Given the description of an element on the screen output the (x, y) to click on. 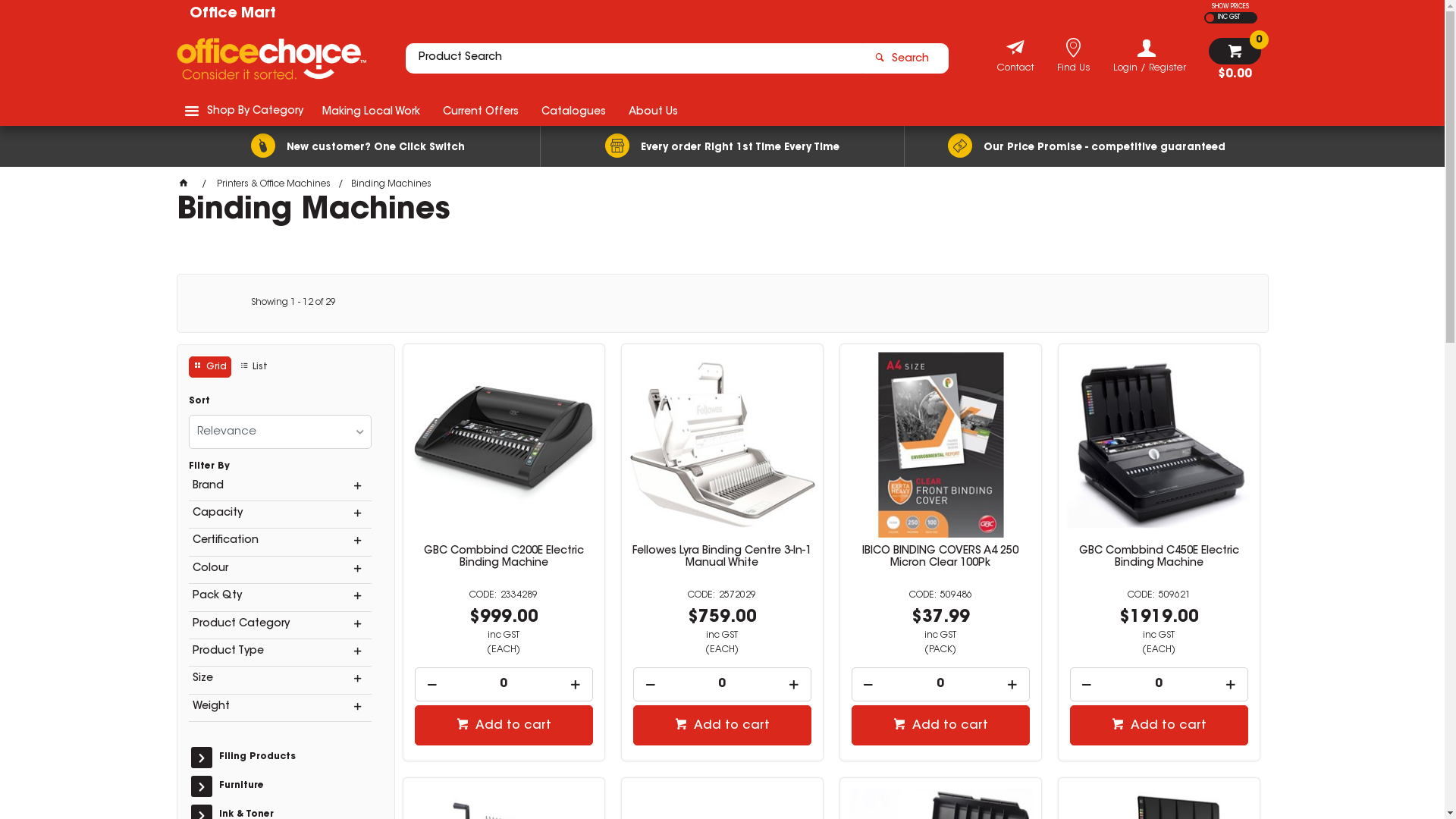
Add to cart Element type: text (940, 724)
About Us Element type: text (653, 110)
Add to cart Element type: text (722, 724)
Login / Register Element type: text (1149, 55)
Find Us Element type: text (1073, 69)
Search Element type: text (904, 58)
Filing Products Element type: text (293, 757)
Every order Right 1st Time Every Time Element type: text (721, 145)
Add to cart Element type: text (503, 724)
Our Price Promise - competitive guaranteed Element type: text (1085, 145)
Printers & Office Machines Element type: text (273, 183)
GBC Combbind C450E Electric Binding Machine Element type: text (1159, 557)
Fellowes Lyra Binding Centre 3-In-1 Manual White Element type: text (722, 557)
New customer? One Click Switch Element type: text (357, 145)
INC GST Element type: text (1226, 17)
Current Offers Element type: text (479, 110)
Add to cart Element type: text (1159, 724)
IBICO BINDING COVERS A4 250 Micron Clear 100Pk Element type: text (940, 557)
Contact Element type: text (1014, 69)
EX GST Element type: text (1209, 17)
Furniture Element type: text (293, 786)
Making Local Work Element type: text (370, 110)
Catalogues Element type: text (572, 110)
GBC Combbind C200E Electric Binding Machine Element type: text (503, 557)
$0.00
0 Element type: text (1234, 59)
